Given the description of an element on the screen output the (x, y) to click on. 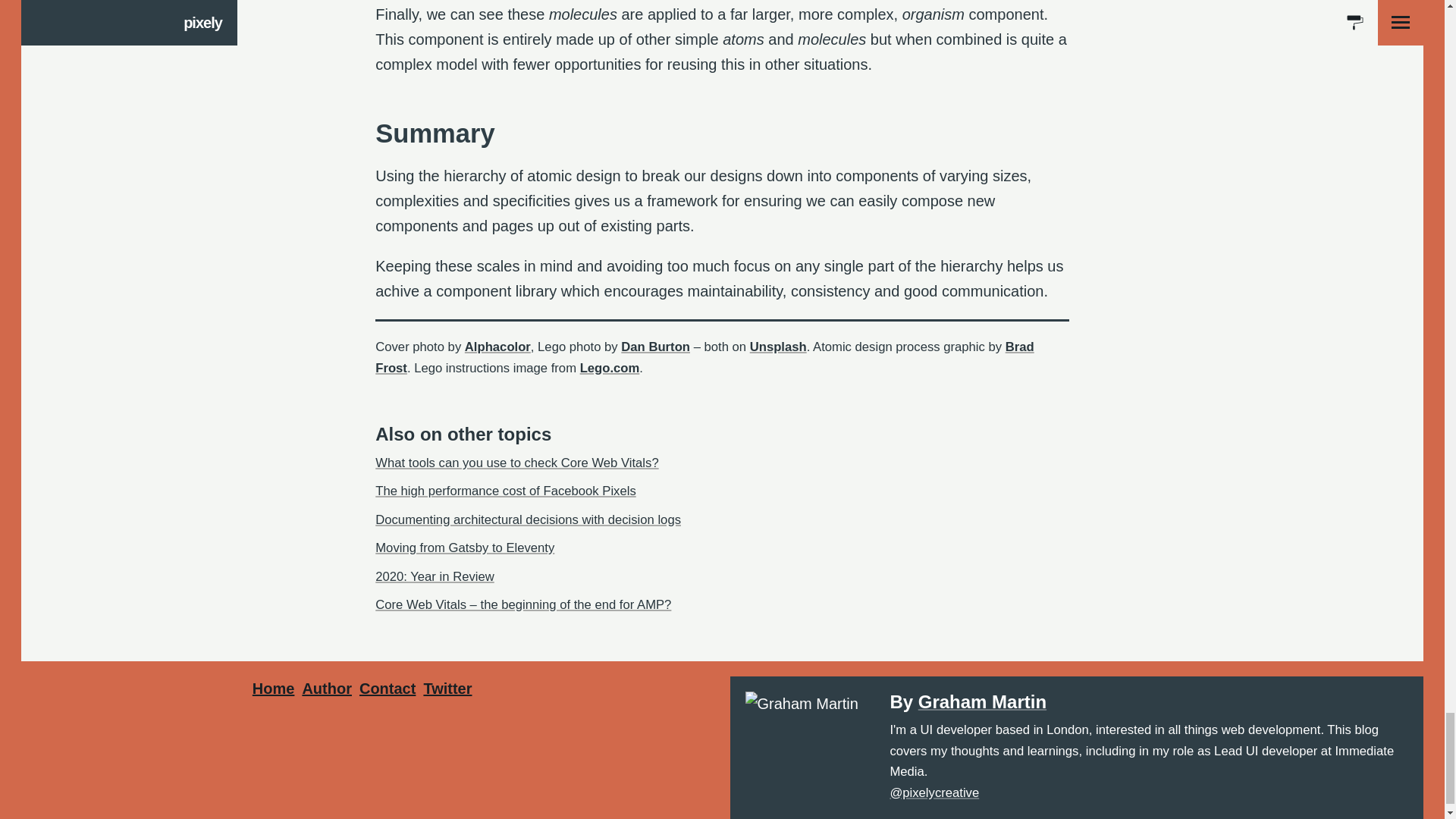
2020: Year in Review (435, 576)
Dan Burton (655, 346)
Unsplash (777, 346)
Twitter (447, 688)
Moving from Gatsby to Eleventy (464, 547)
Graham Martin (982, 701)
Home (273, 688)
Author (326, 688)
Contact (386, 688)
Brad Frost (704, 356)
